Given the description of an element on the screen output the (x, y) to click on. 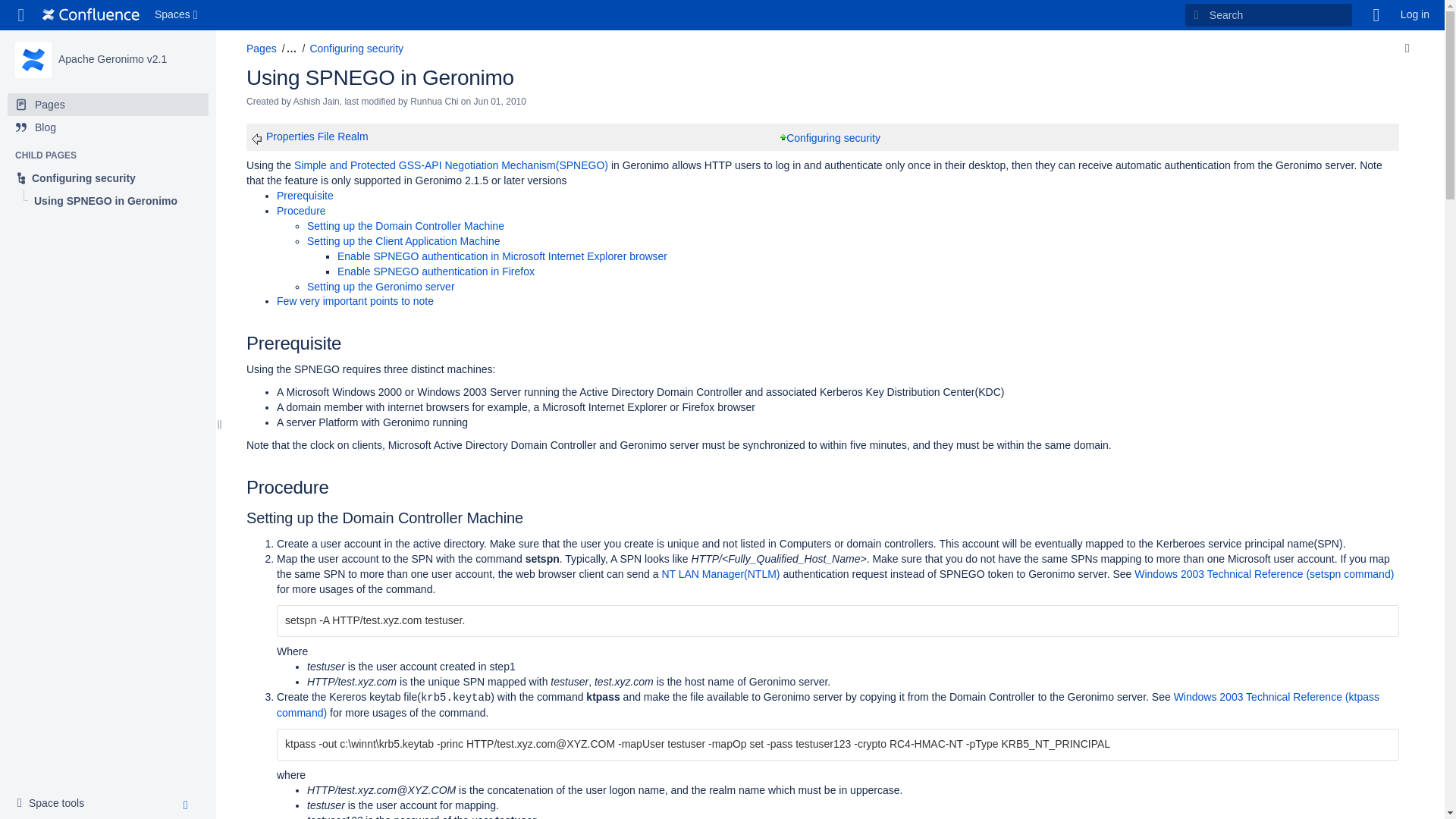
Configuring security (107, 178)
Apache Software Foundation (90, 15)
Log in (1415, 15)
Apache Geronimo v2.1 (112, 59)
Spaces (177, 15)
Spaces (177, 15)
Blog (107, 127)
Configuring security (107, 178)
Pages (107, 104)
Pages (261, 48)
